Given the description of an element on the screen output the (x, y) to click on. 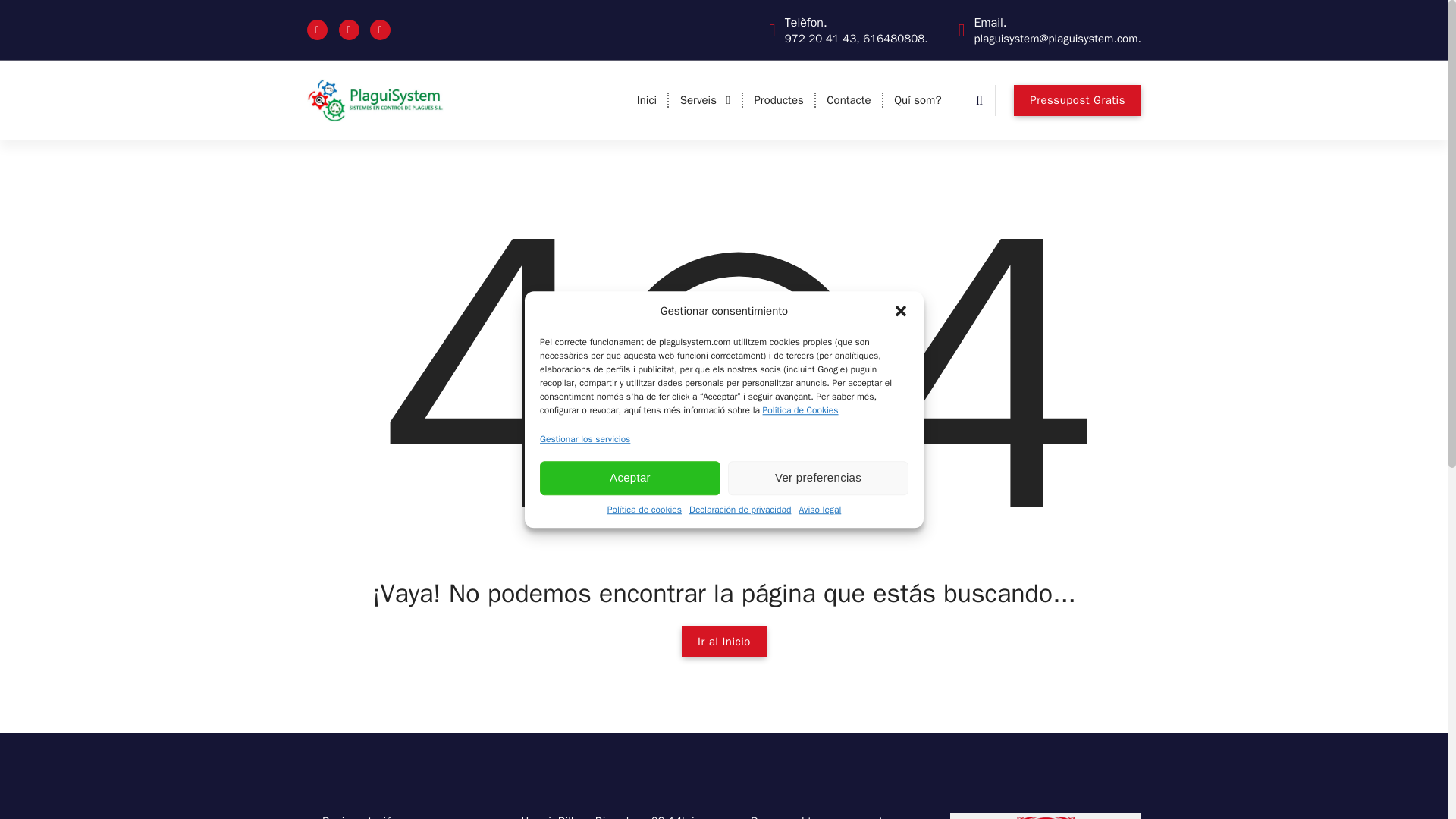
Inici (646, 100)
Serveis (705, 100)
Ver preferencias (818, 478)
Aceptar (630, 478)
Aviso legal (819, 509)
Gestionar los servicios (585, 438)
